Given the description of an element on the screen output the (x, y) to click on. 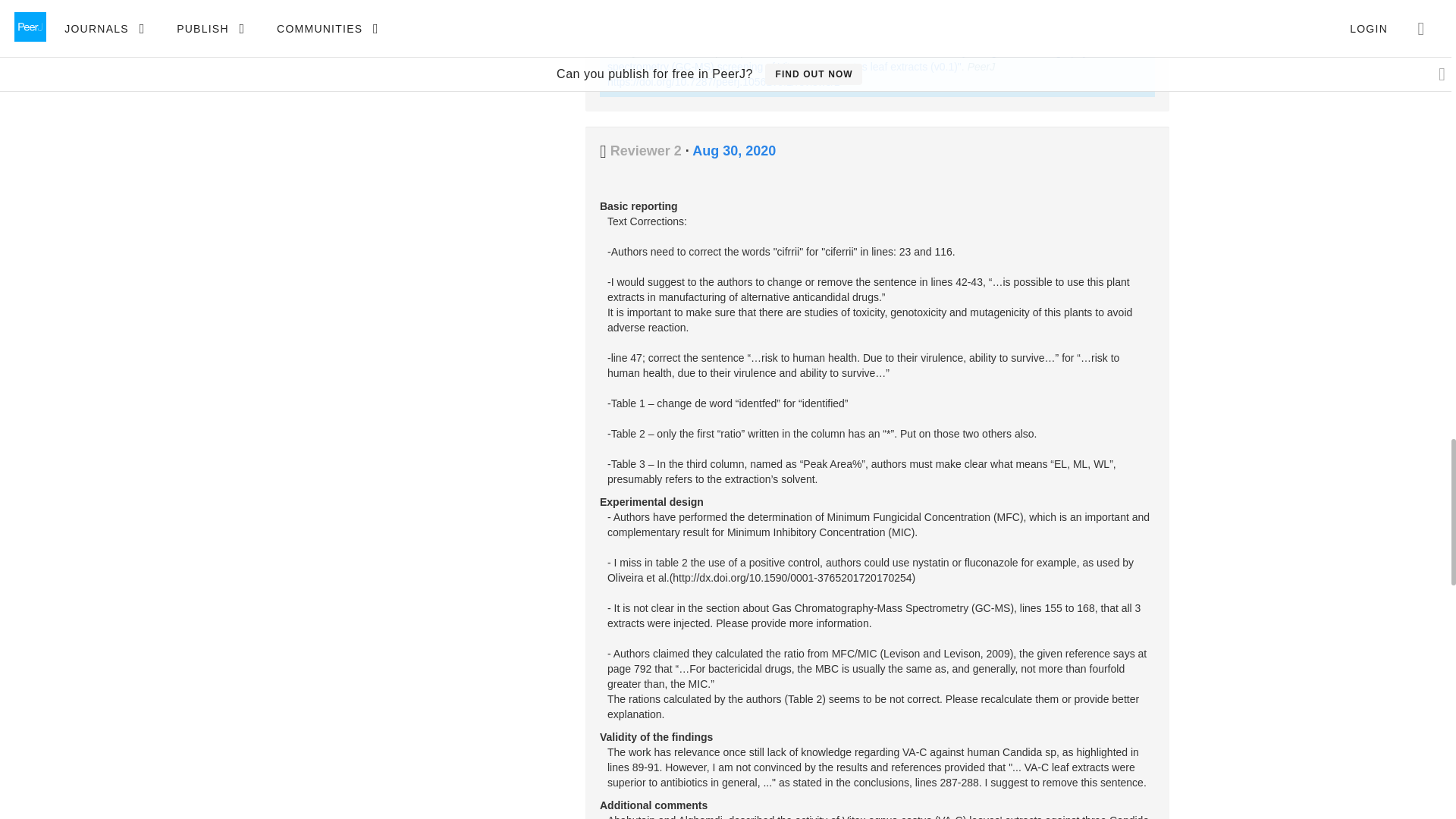
Aug 30, 2020 (734, 150)
Permalink for this review (734, 150)
